Given the description of an element on the screen output the (x, y) to click on. 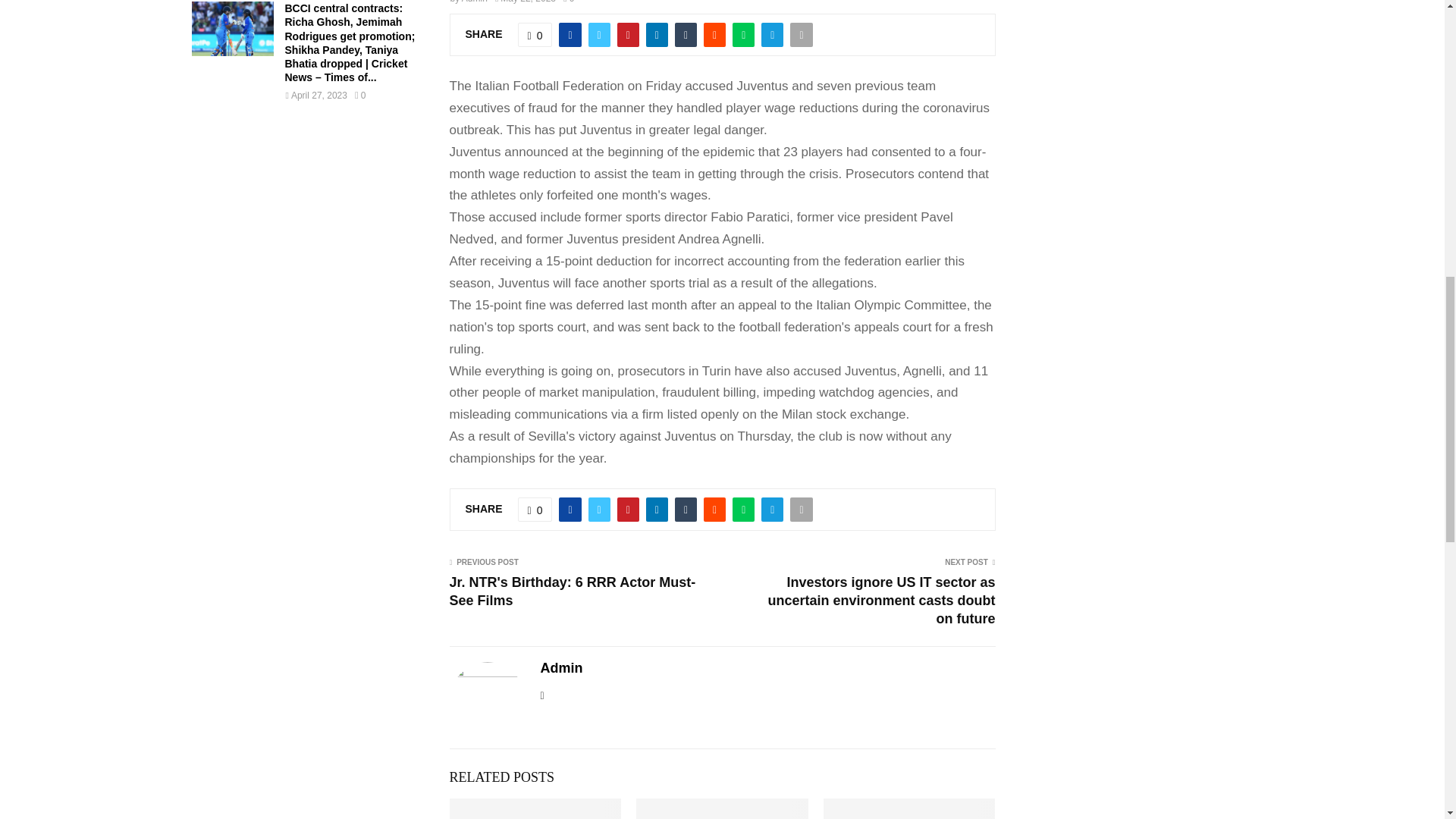
Like (535, 34)
Like (535, 509)
